Given the description of an element on the screen output the (x, y) to click on. 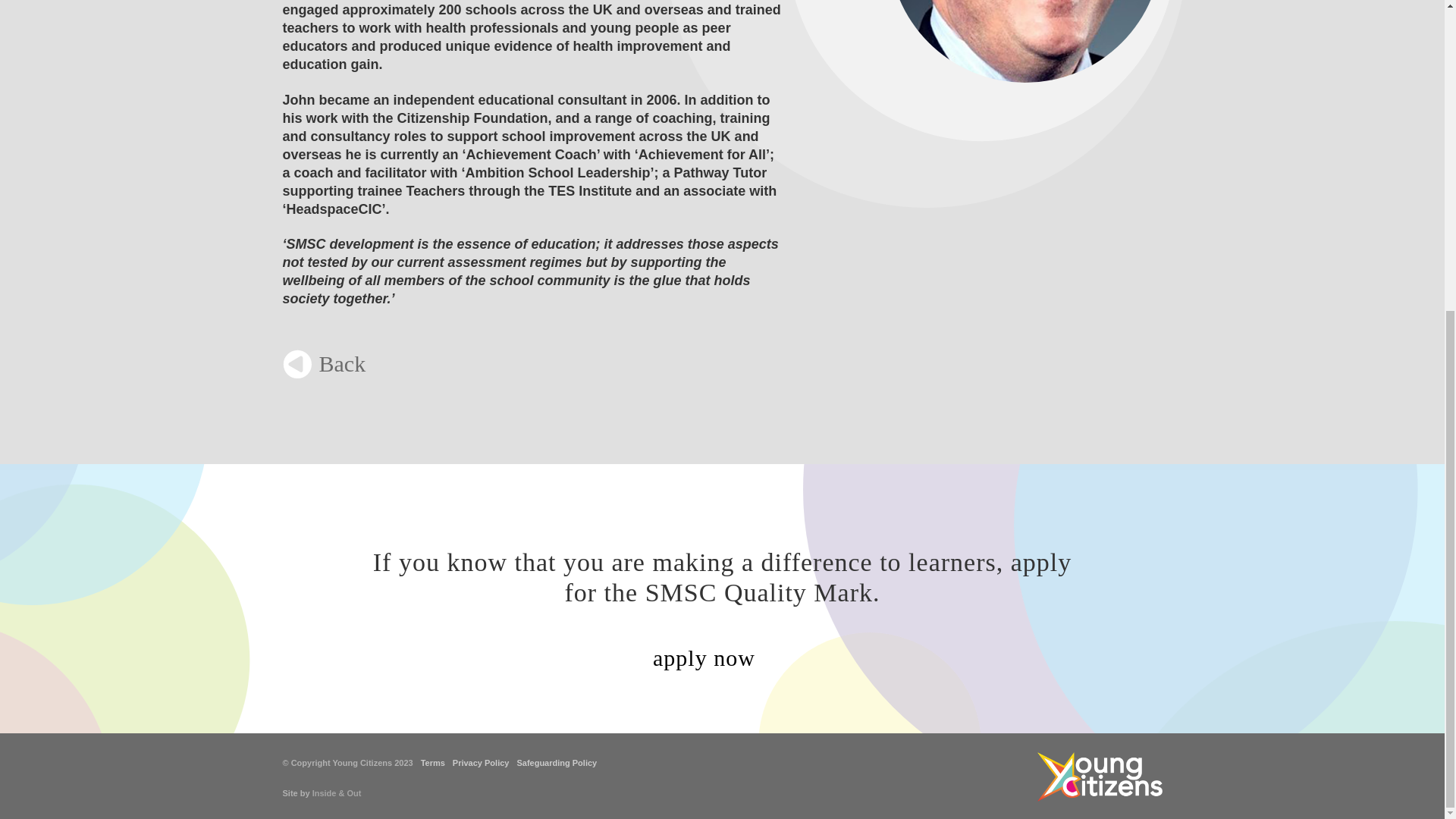
apply now (722, 659)
Back (323, 364)
Safeguarding Policy (556, 762)
Terms (432, 762)
Visit the Young Citizens Website (1098, 776)
Privacy Policy (480, 762)
Back (323, 364)
